Given the description of an element on the screen output the (x, y) to click on. 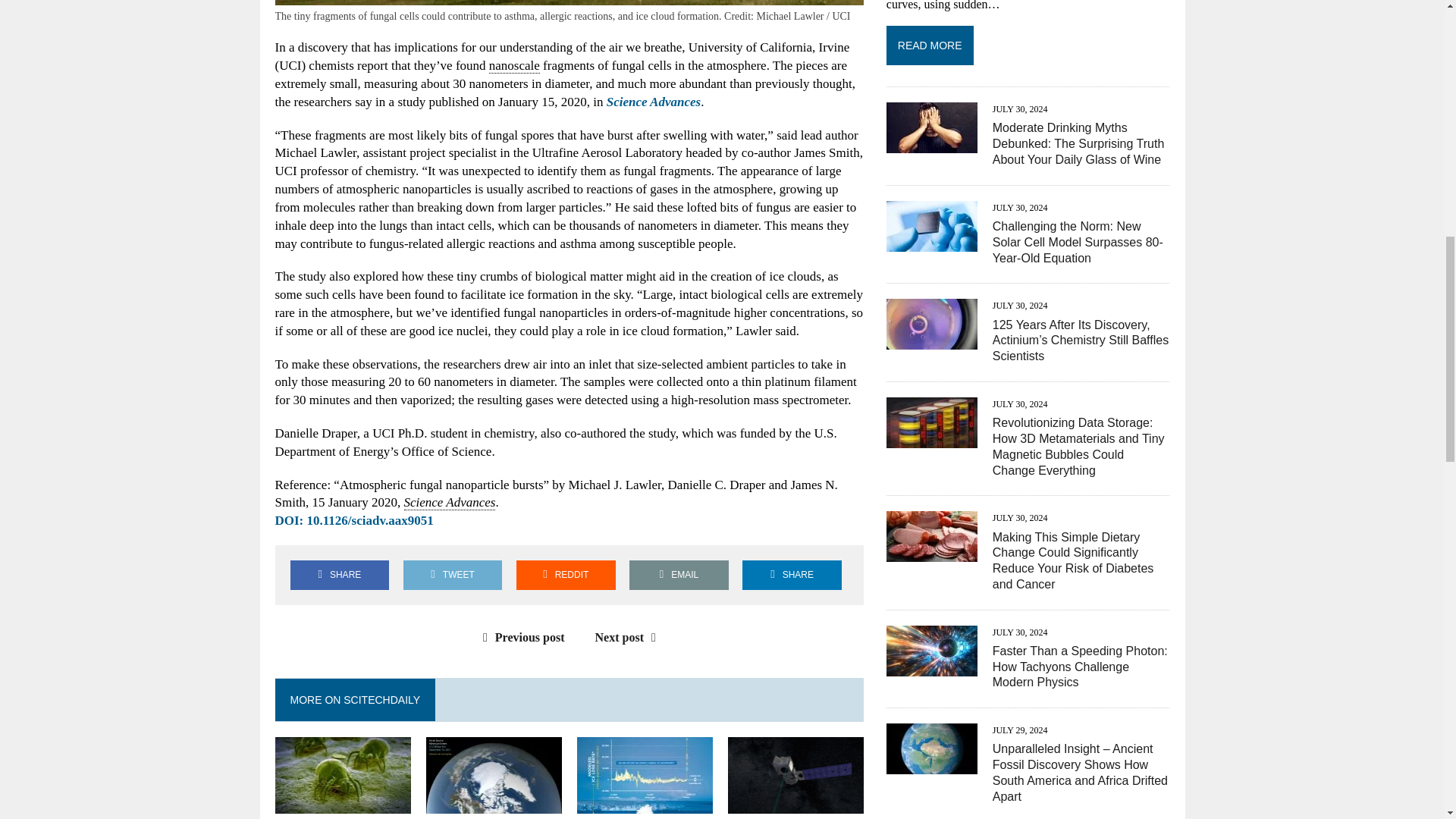
Share on Facebook (338, 574)
